Given the description of an element on the screen output the (x, y) to click on. 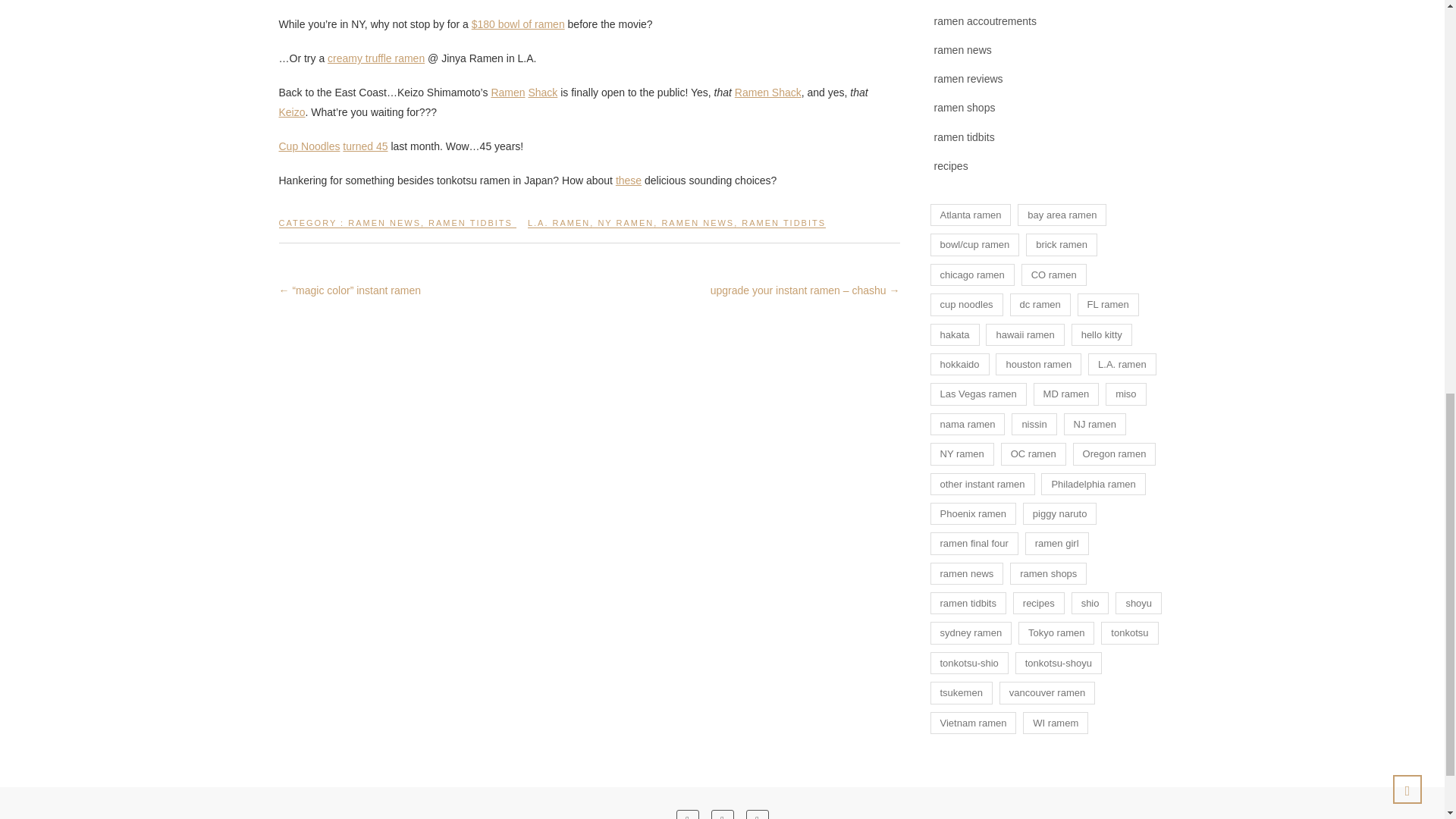
Cup Noodles (309, 146)
creamy truffle ramen (376, 58)
L.A. RAMEN (558, 229)
Ramen (507, 92)
RAMEN TIDBITS (783, 229)
turned 45 (364, 146)
Shack (542, 92)
RAMEN TIDBITS (470, 229)
these (628, 180)
RAMEN NEWS (383, 229)
